Given the description of an element on the screen output the (x, y) to click on. 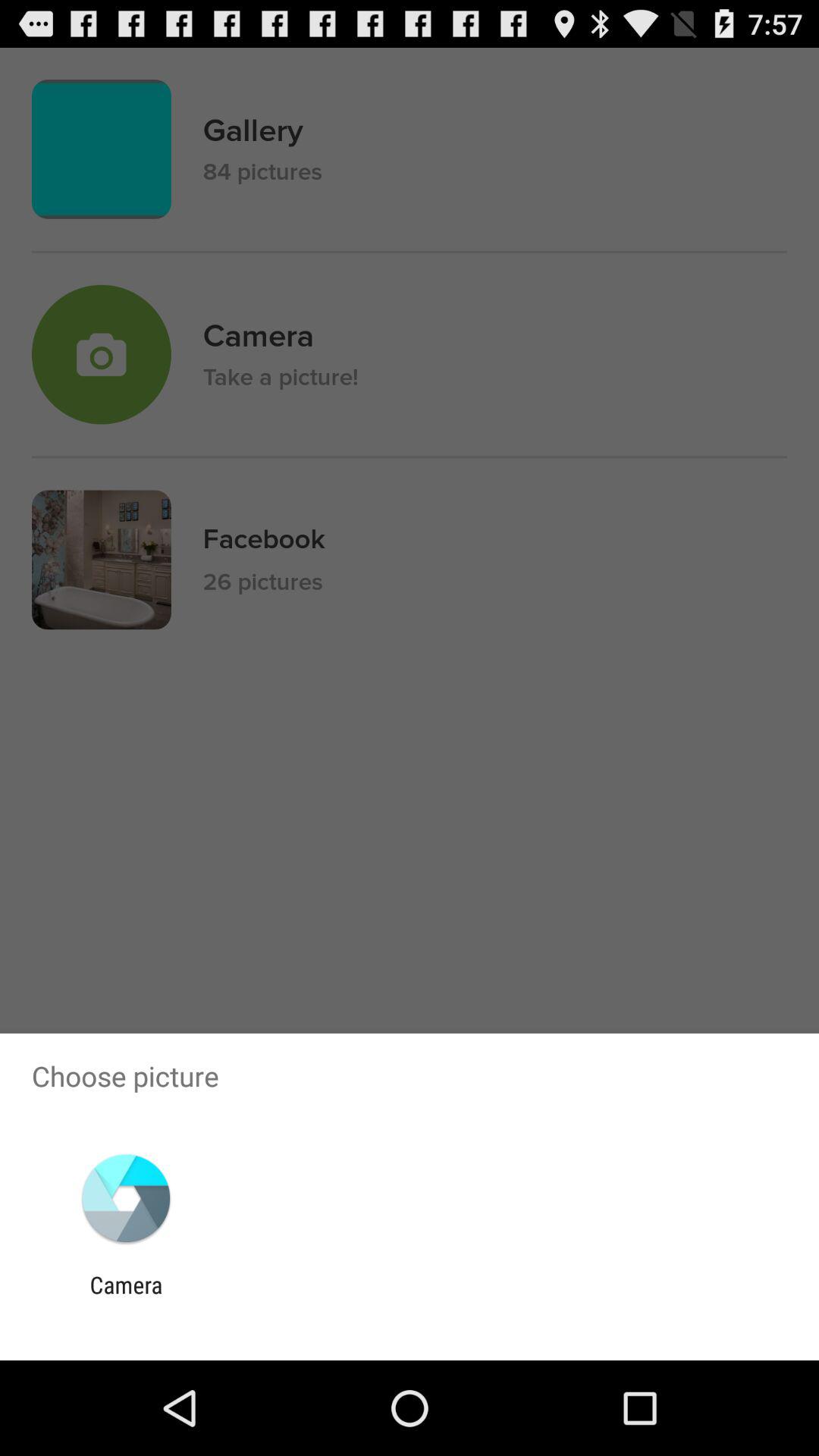
choose camera (125, 1298)
